Given the description of an element on the screen output the (x, y) to click on. 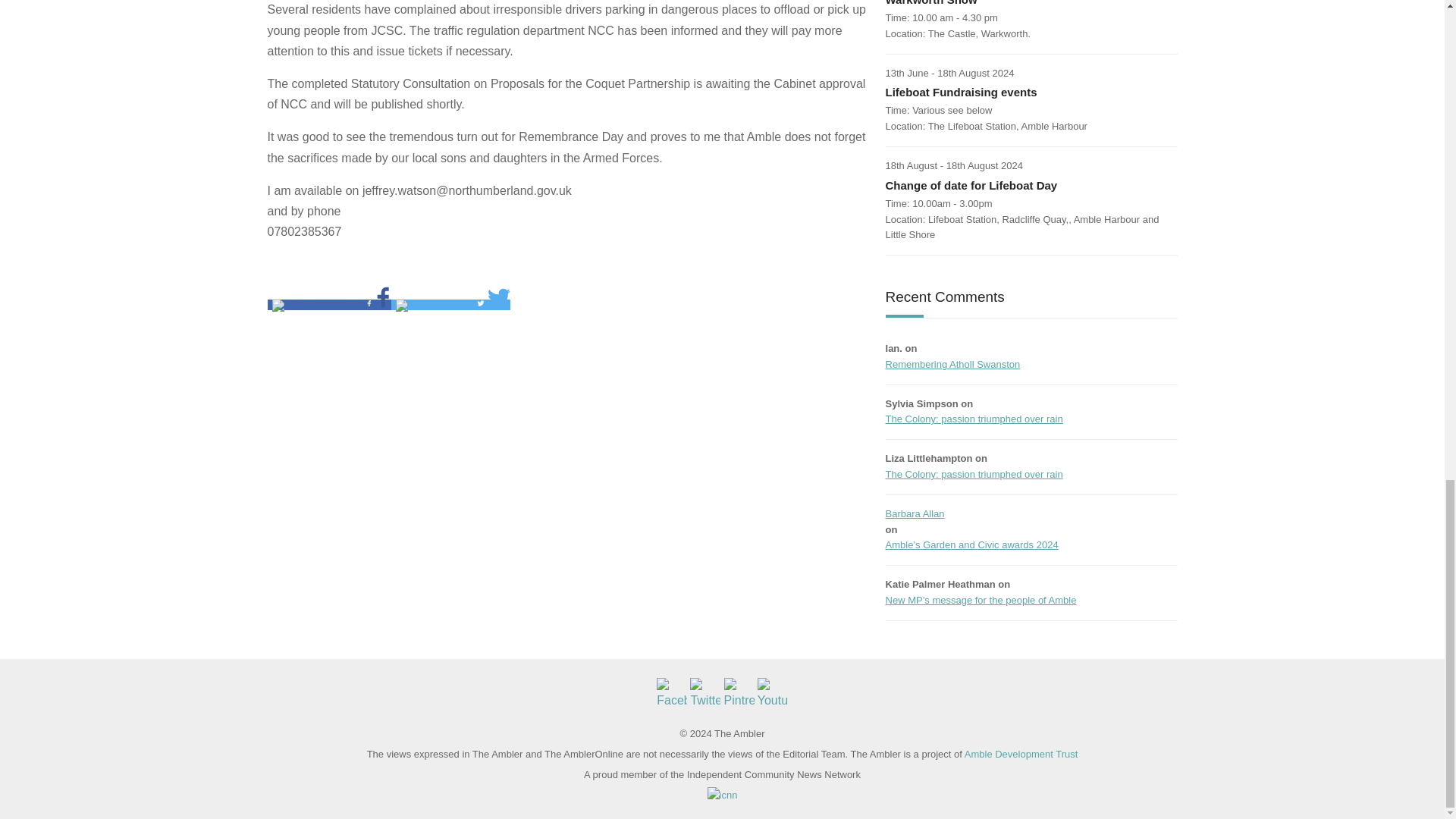
twitter (433, 305)
facebook (315, 305)
